Given the description of an element on the screen output the (x, y) to click on. 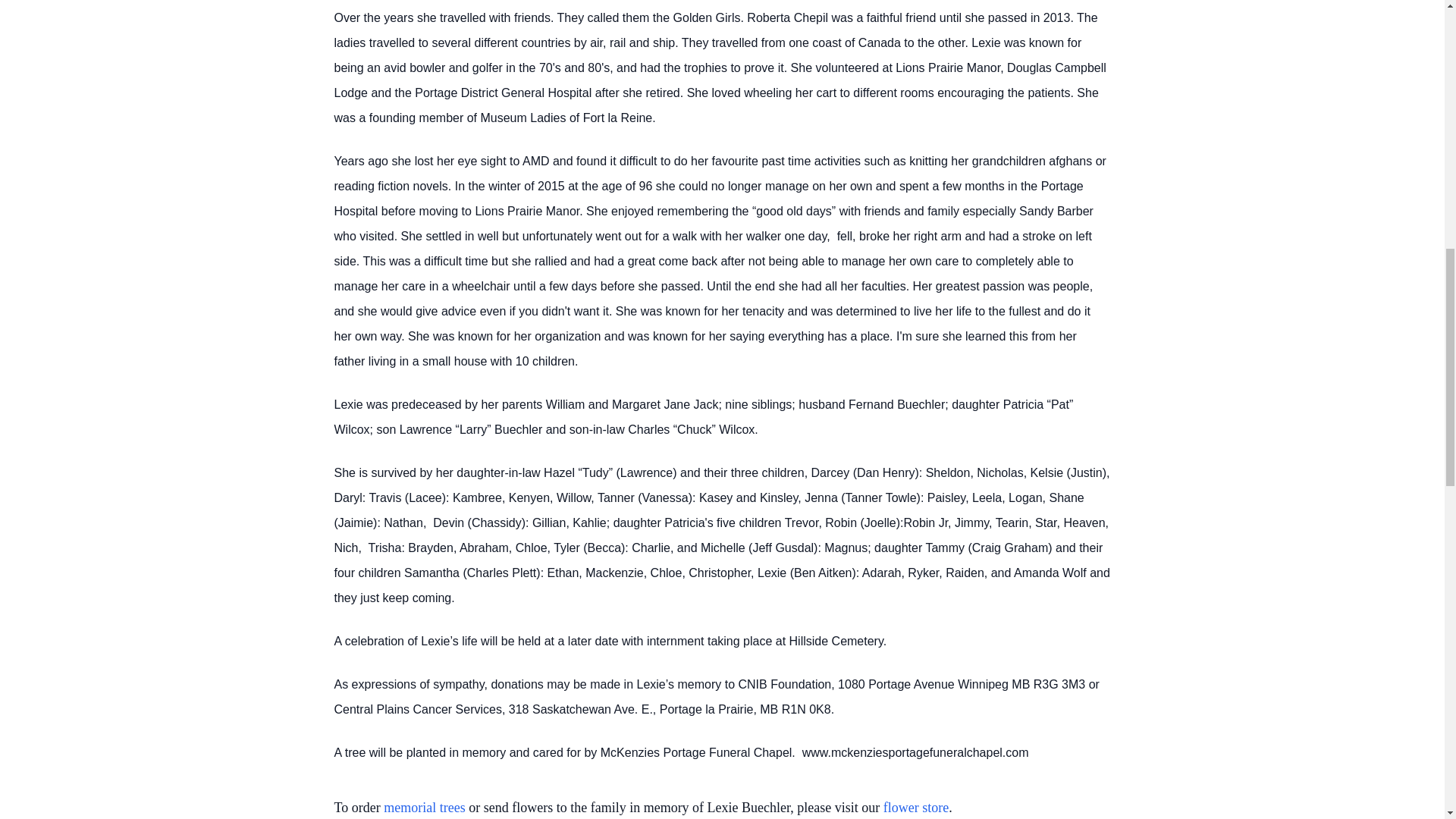
flower store (916, 807)
memorial trees (424, 807)
